Given the description of an element on the screen output the (x, y) to click on. 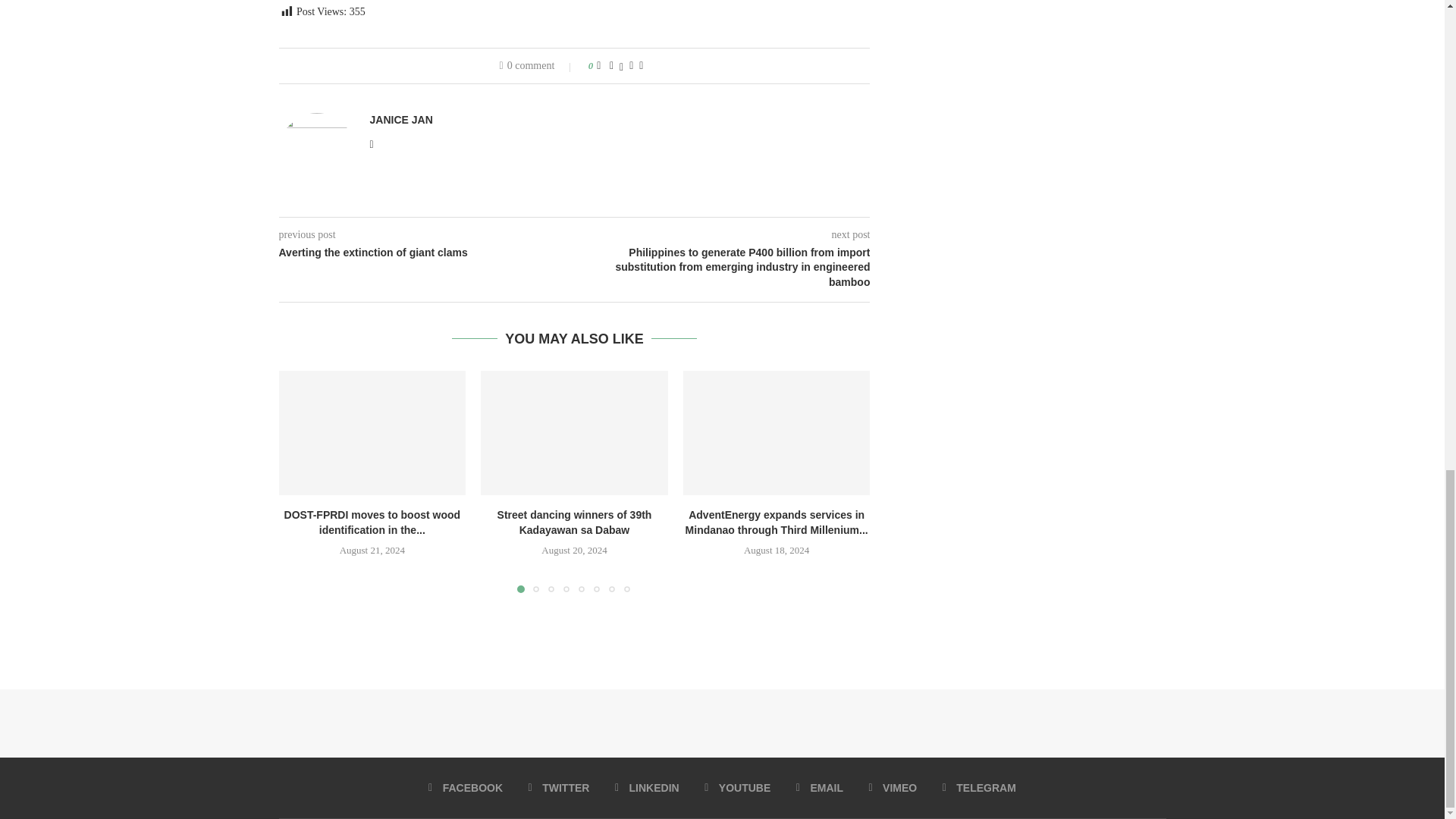
Street dancing winners of 39th Kadayawan sa Dabaw (574, 433)
DOST-FPRDI moves to boost wood identification in the... (372, 522)
JANICE JAN (400, 120)
Averting the extinction of giant clams (427, 253)
Author janice jan (400, 120)
